Given the description of an element on the screen output the (x, y) to click on. 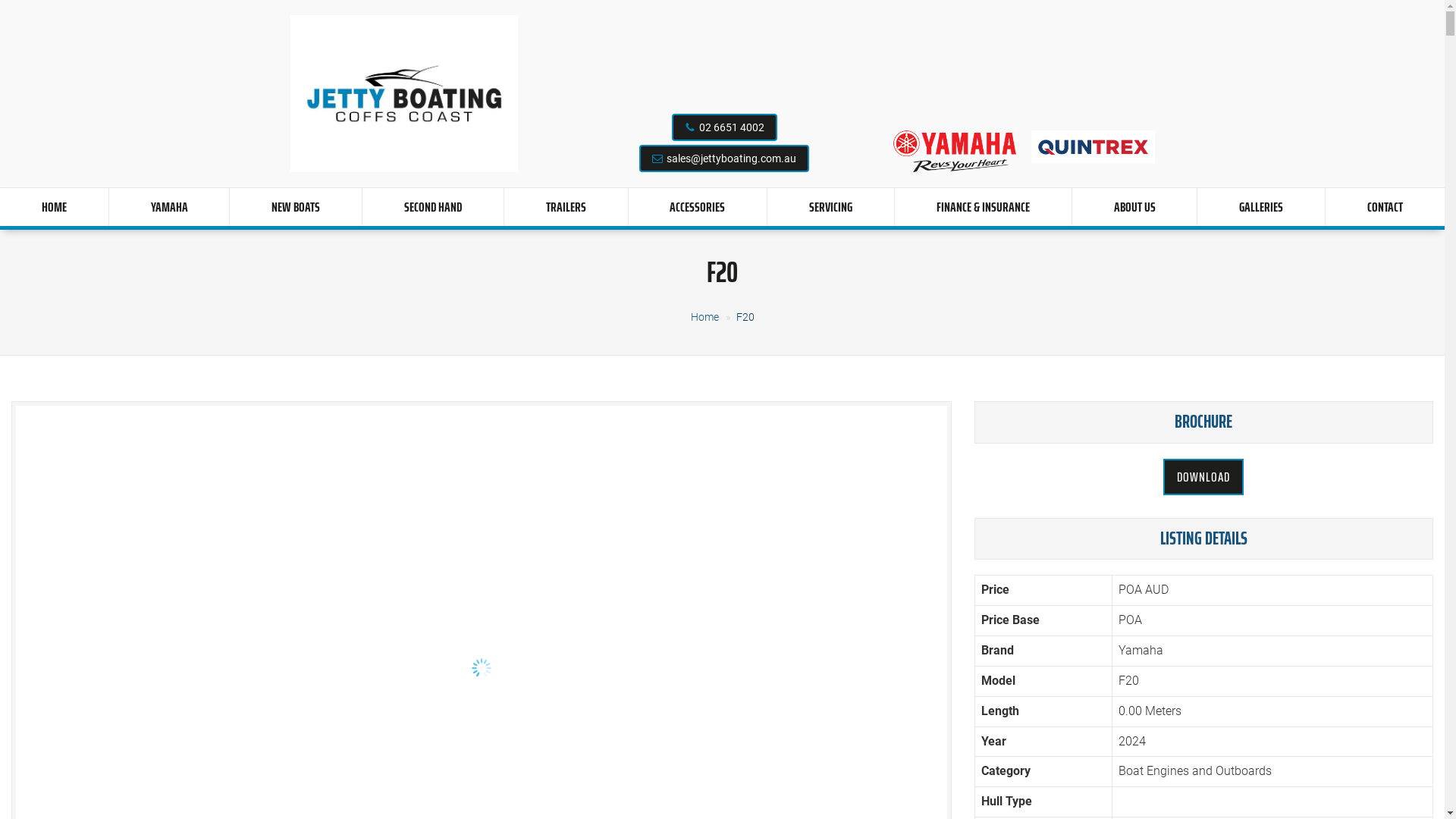
TRAILERS Element type: text (565, 206)
ACCESSORIES Element type: text (697, 206)
SECOND HAND Element type: text (432, 206)
YAMAHA Element type: text (169, 206)
NEW BOATS Element type: text (295, 206)
CONTACT Element type: text (1384, 206)
Jetty Boating Element type: hover (403, 93)
GALLERIES Element type: text (1260, 206)
sales@jettyboating.com.au Element type: text (731, 158)
SERVICING Element type: text (830, 206)
ABOUT US Element type: text (1134, 206)
HOME Element type: text (54, 206)
FINANCE & INSURANCE Element type: text (982, 206)
02 6651 4002 Element type: text (731, 127)
Home Element type: text (704, 316)
DOWNLOAD Element type: text (1203, 476)
